Given the description of an element on the screen output the (x, y) to click on. 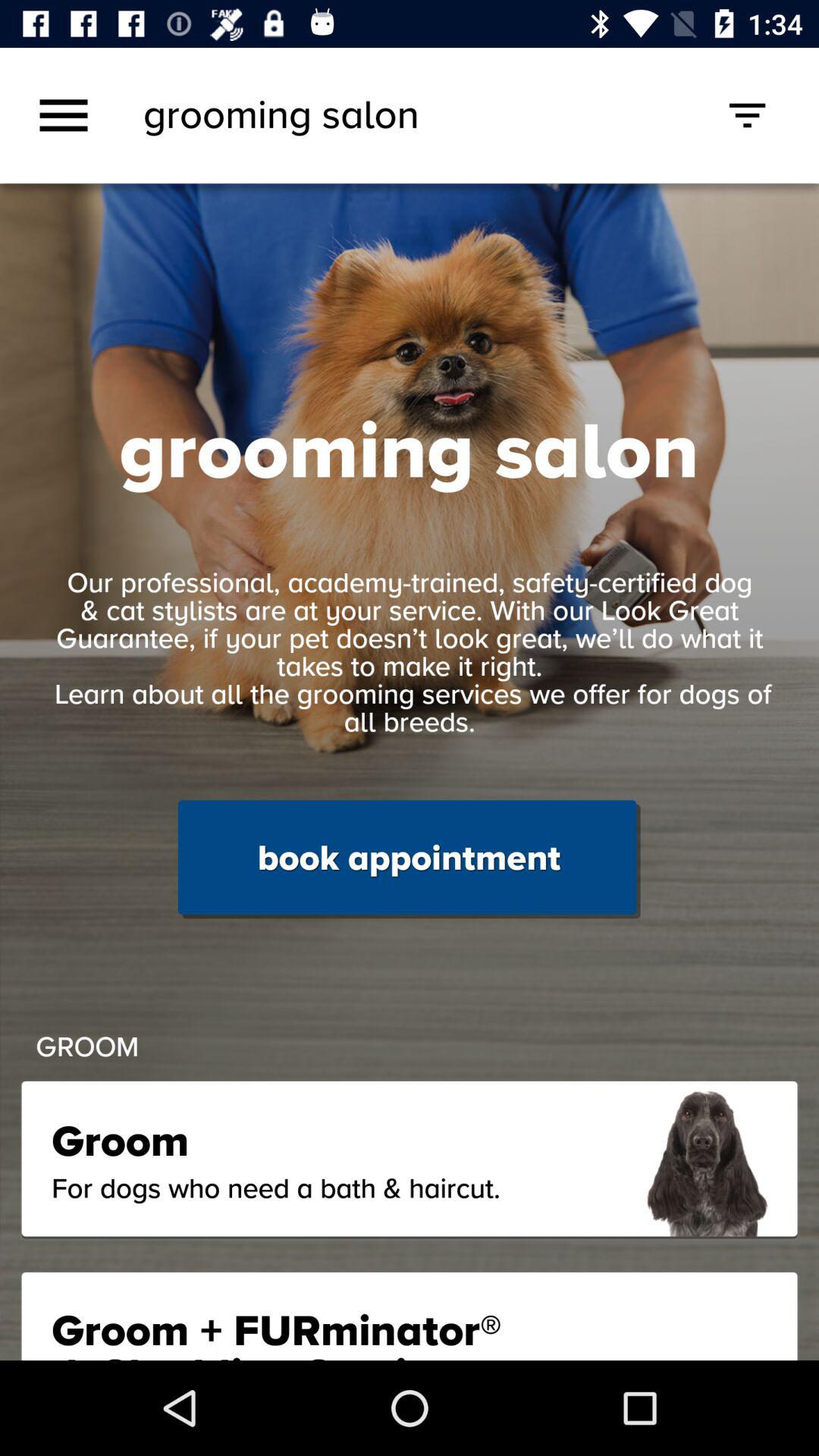
select the book appointment (409, 859)
